Given the description of an element on the screen output the (x, y) to click on. 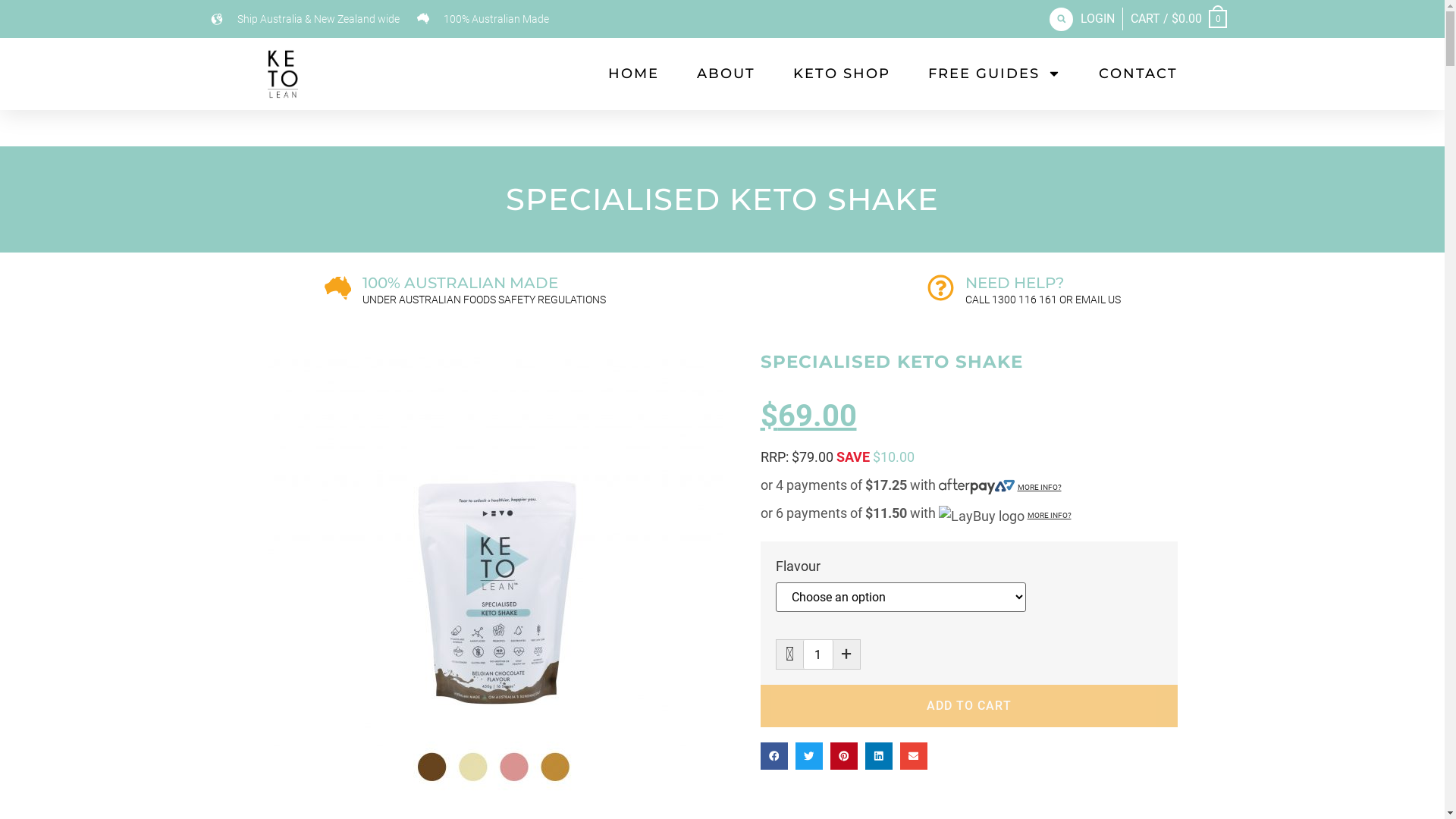
CART / $0.00 0 Element type: text (1178, 18)
ABOUT Element type: text (725, 73)
KETO SHOP Element type: text (841, 73)
MORE INFO? Element type: text (1039, 487)
Qty Element type: hover (817, 654)
+ Element type: text (845, 654)
ADD TO CART Element type: text (967, 705)
FREE GUIDES Element type: text (994, 73)
HOME Element type: text (633, 73)
LOGIN Element type: text (1097, 18)
MORE INFO? Element type: text (1048, 515)
CONTACT Element type: text (1137, 73)
Choc-1-Pack Element type: hover (493, 580)
